Given the description of an element on the screen output the (x, y) to click on. 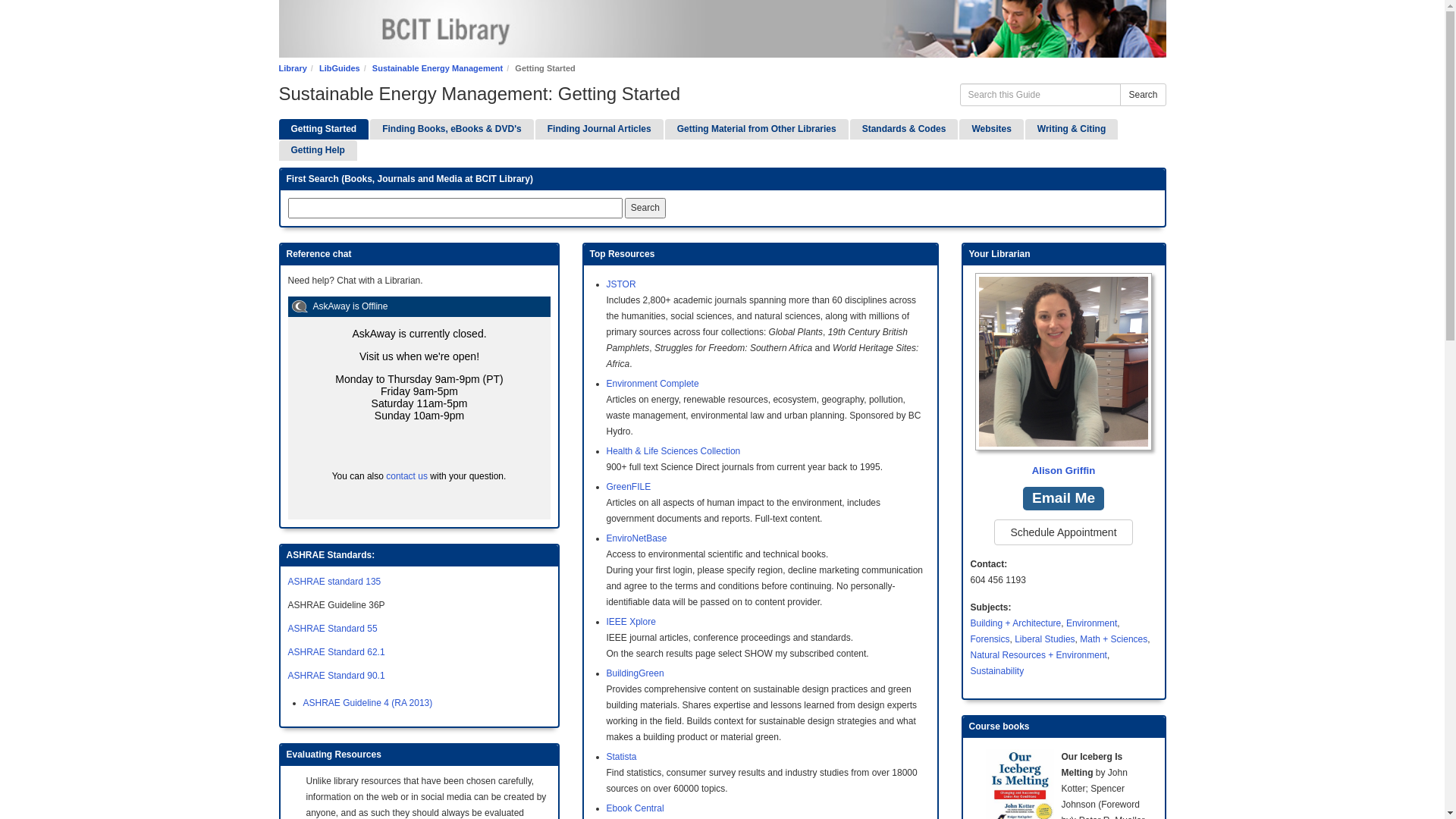
Math + Sciences Element type: text (1113, 638)
Alison Griffin Element type: text (1063, 376)
Forensics Element type: text (990, 638)
IEEE Xplore Element type: text (630, 621)
Environment Complete Element type: text (652, 383)
BuildingGreen Element type: text (635, 673)
Environment Element type: text (1091, 623)
Getting Started Element type: text (324, 129)
Websites Element type: text (990, 129)
ASHRAE Standard 62.1 Element type: text (336, 651)
Statista Element type: text (621, 756)
ASHRAE Guideline 4 (RA 2013) Element type: text (368, 702)
ASHRAE standard 135 Element type: text (334, 581)
Ebook Central Element type: text (635, 808)
Schedule Appointment Element type: text (1063, 532)
Email Me Element type: text (1062, 498)
JSTOR Element type: text (621, 284)
Library Element type: text (293, 67)
EnviroNetBase Element type: text (636, 538)
Writing & Citing Element type: text (1071, 129)
Finding Books, eBooks & DVD's Element type: text (451, 129)
Getting Material from Other Libraries Element type: text (756, 129)
contact us Element type: text (406, 475)
Building + Architecture Element type: text (1015, 623)
Health & Life Sciences Collection Element type: text (673, 450)
GreenFILE Element type: text (628, 486)
Getting Help Element type: text (318, 150)
Search Element type: text (1142, 94)
LibGuides Element type: text (339, 67)
Sustainability Element type: text (997, 670)
Sustainable Energy Management Element type: text (437, 67)
Natural Resources + Environment Element type: text (1038, 654)
ASHRAE Standard 55 Element type: text (332, 628)
ASHRAE Standard 90.1 Element type: text (336, 675)
Liberal Studies Element type: text (1044, 638)
Standards & Codes Element type: text (904, 129)
Finding Journal Articles Element type: text (599, 129)
Search Element type: text (644, 207)
